Given the description of an element on the screen output the (x, y) to click on. 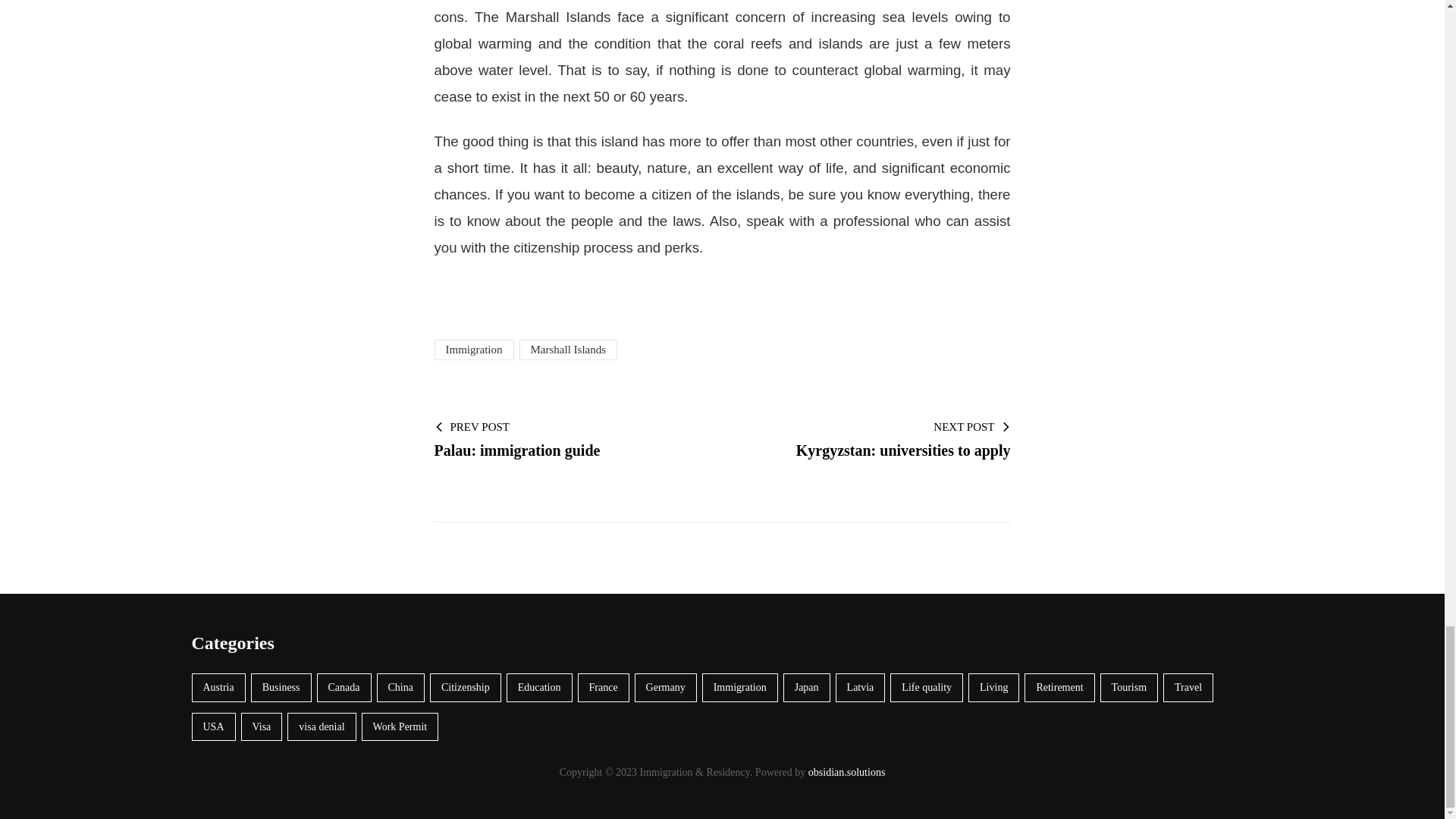
obsidian.solutions (846, 772)
Immigration (739, 687)
China (399, 687)
Retirement (1059, 687)
Marshall Islands (567, 349)
Germany (665, 687)
Latvia (860, 687)
Canada (344, 687)
Tourism (1128, 687)
Work Permit (400, 727)
Citizenship (464, 687)
Life quality (925, 687)
France (565, 438)
Travel (603, 687)
